Given the description of an element on the screen output the (x, y) to click on. 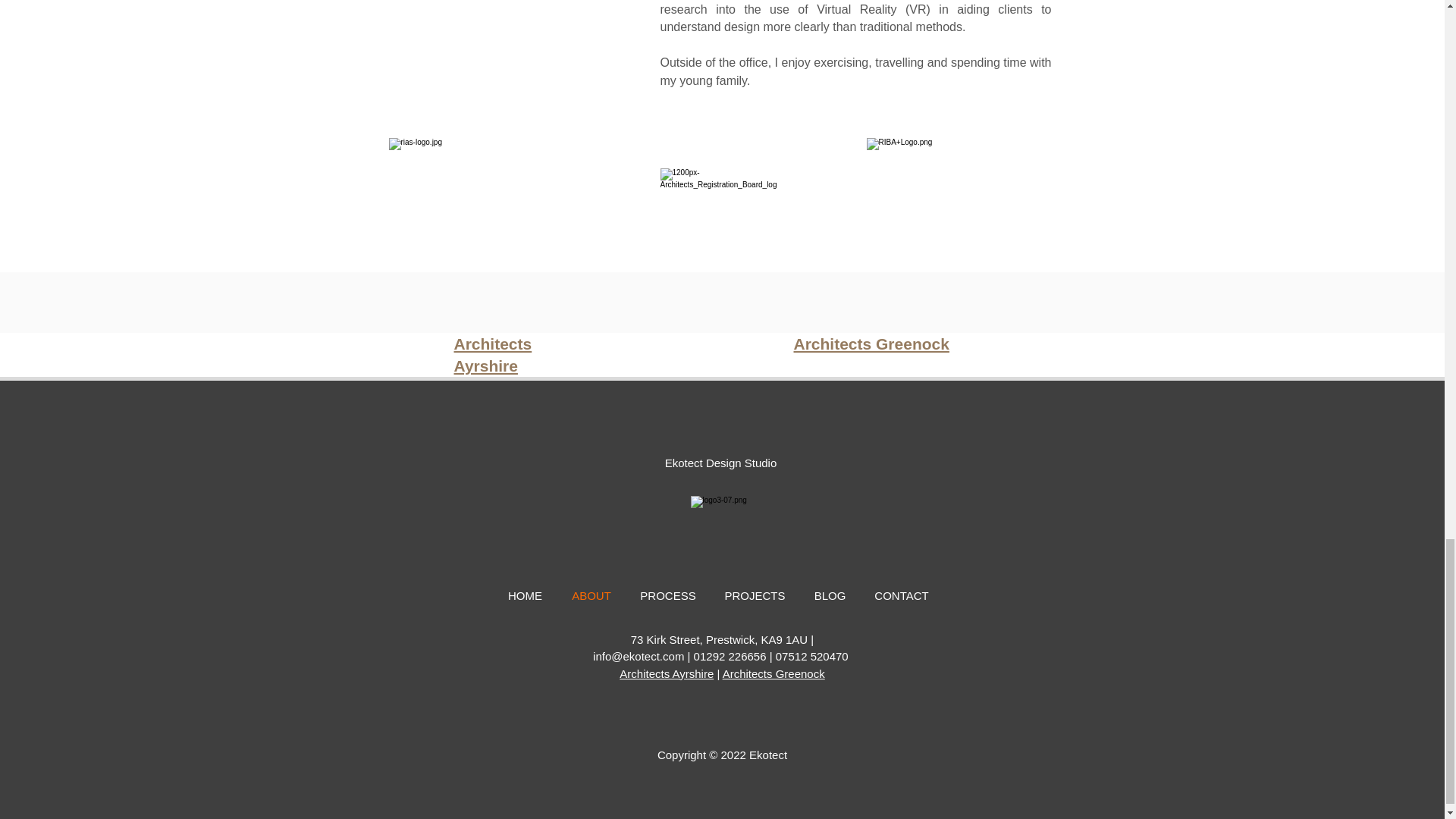
Architects Ayrshire (666, 673)
Architects Ayrshire (491, 354)
BLOG (829, 595)
01292 226656 (730, 656)
CONTACT (901, 595)
ABOUT (591, 595)
HOME (524, 595)
PROJECTS (754, 595)
07512 520470 (812, 656)
Architects Greenock (773, 673)
